Given the description of an element on the screen output the (x, y) to click on. 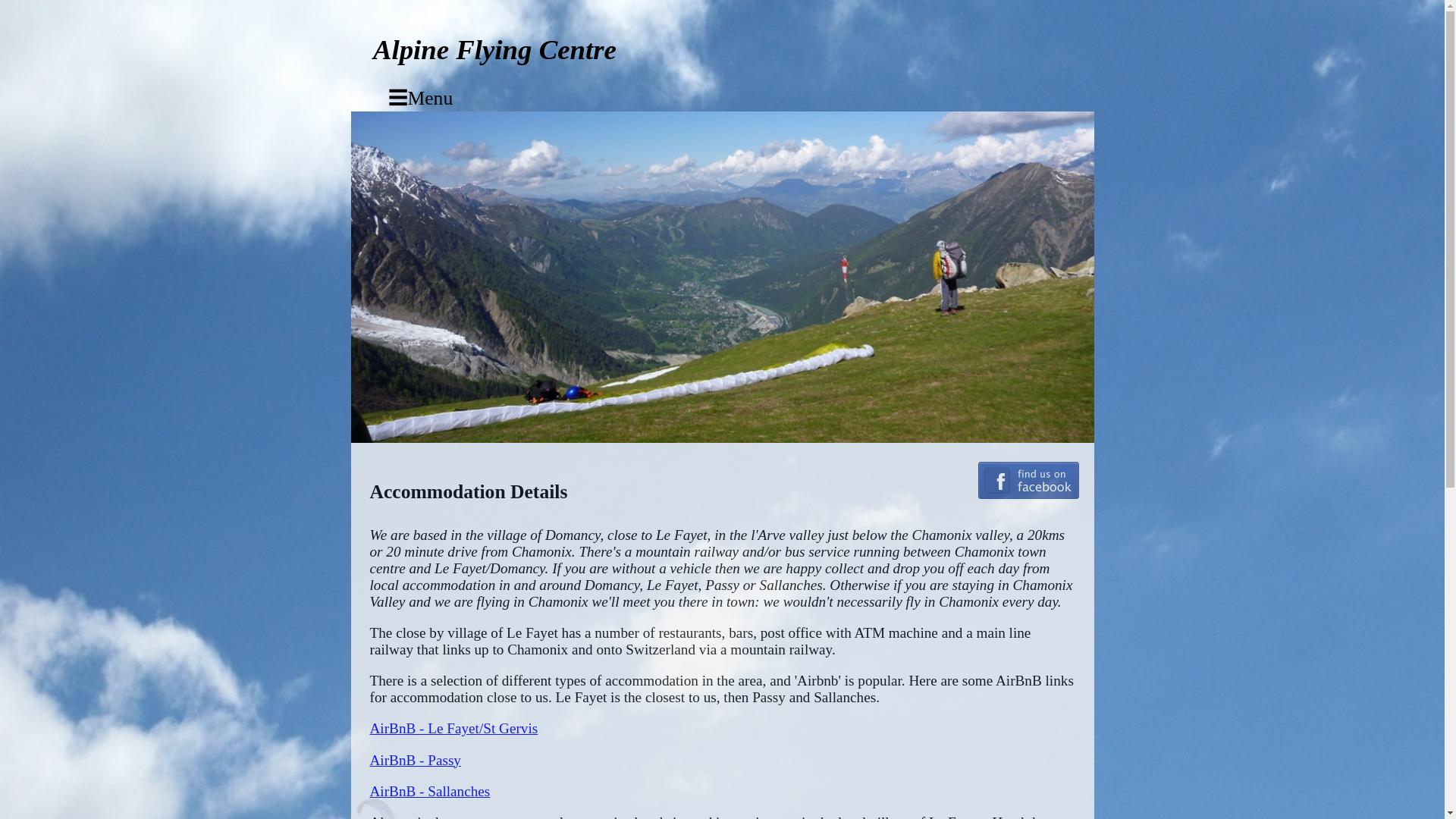
AirBnB - Passy (415, 760)
AirBnB - Sallanches (429, 790)
